Given the description of an element on the screen output the (x, y) to click on. 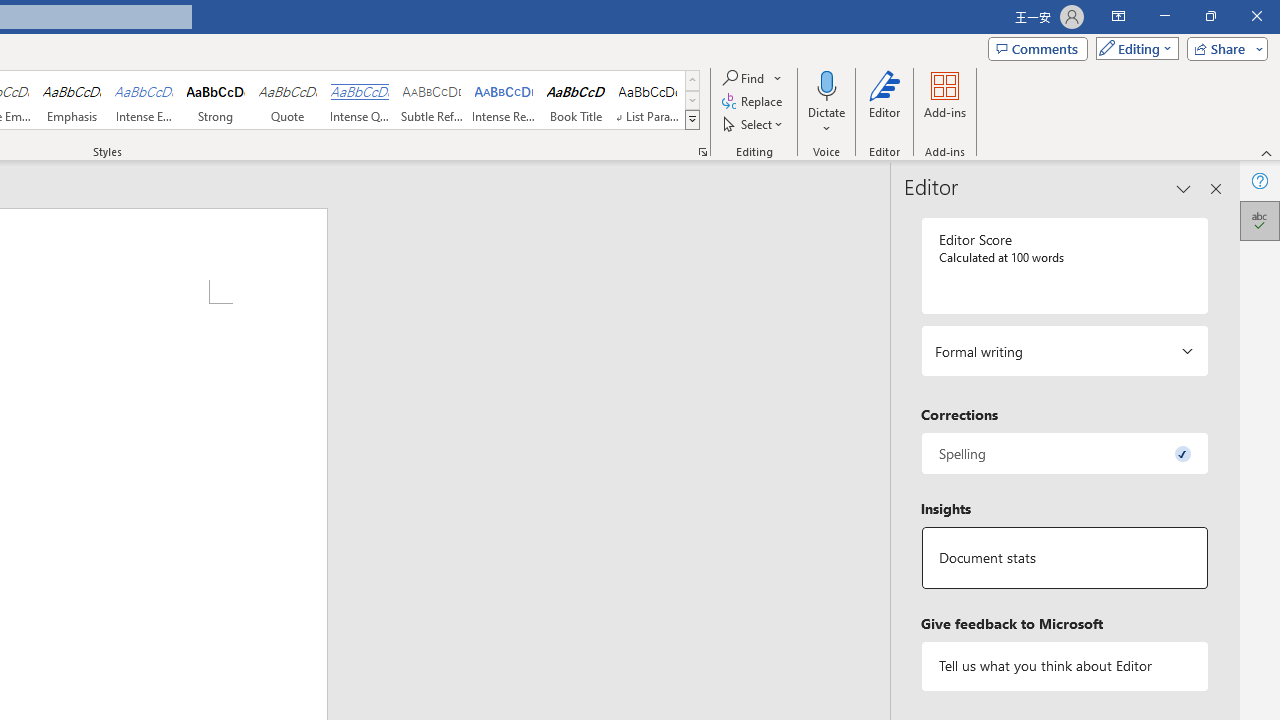
Document statistics (1064, 557)
Strong (216, 100)
Quote (287, 100)
Subtle Reference (431, 100)
Intense Quote (359, 100)
